Given the description of an element on the screen output the (x, y) to click on. 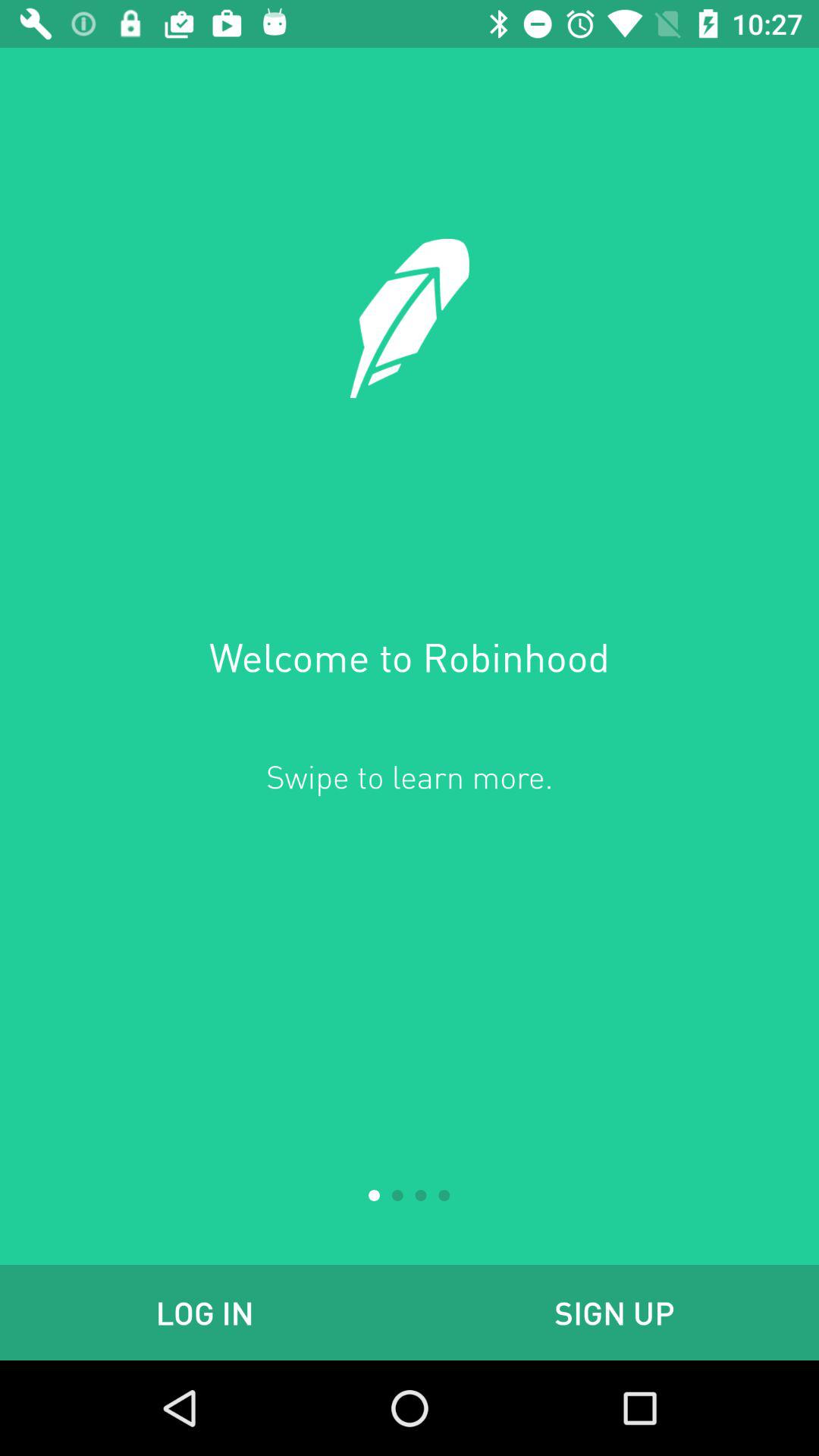
open icon next to the log in icon (614, 1312)
